Given the description of an element on the screen output the (x, y) to click on. 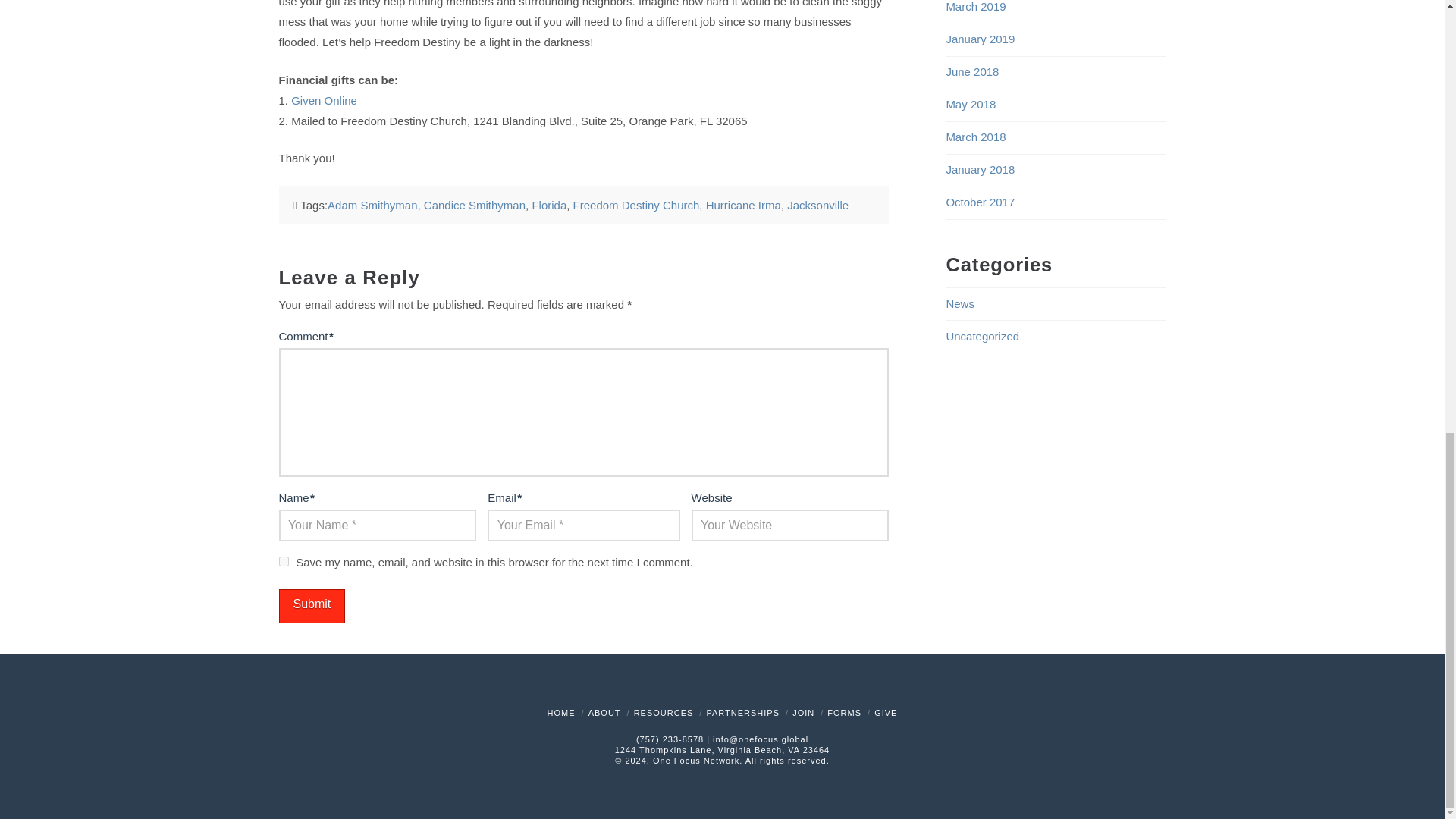
yes (283, 561)
RESOURCES (663, 712)
January 2019 (979, 38)
Jacksonville (817, 205)
Hurricane Irma (743, 205)
Florida (548, 205)
Given Online (323, 100)
Freedom Destiny Church (636, 205)
Candice Smithyman (474, 205)
June 2018 (971, 71)
Adam Smithyman (371, 205)
March 2019 (975, 6)
May 2018 (969, 103)
March 2018 (975, 136)
Uncategorized (981, 336)
